Given the description of an element on the screen output the (x, y) to click on. 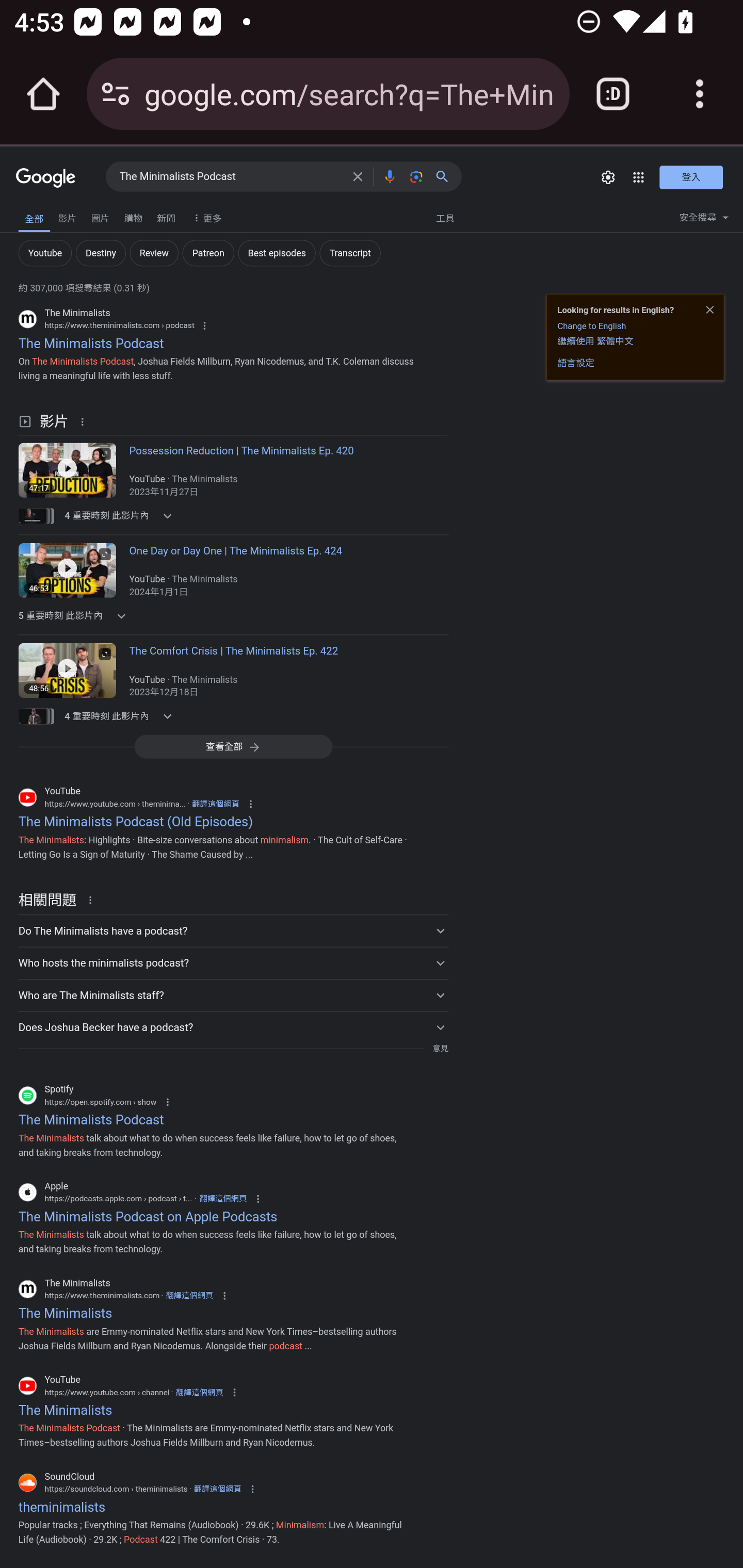
Open the home page (43, 93)
Connection is secure (115, 93)
Switch or close tabs (612, 93)
Customize and control Google Chrome (699, 93)
 清除 (357, 176)
語音搜尋 (389, 176)
以圖搜尋 (415, 176)
搜尋  (446, 176)
設定 (608, 176)
Google 應用程式 (638, 176)
登入 (690, 176)
Google (45, 178)
The Minimalists Podcast (229, 177)
無障礙功能意見 (42, 212)
影片 (67, 216)
圖片 (99, 216)
購物 (133, 216)
新聞 (166, 216)
更多 (205, 216)
安全搜尋 (703, 219)
工具 (444, 216)
新增Youtube Youtube (44, 252)
新增Destiny Destiny (100, 252)
新增Review Review (153, 252)
新增Patreon Patreon (207, 252)
新增Best episodes Best episodes (276, 252)
新增Transcript Transcript (349, 252)
Change to English (591, 325)
繼續使用 繁體中文 繼續使用  繁體中文 (595, 339)
語言設定 (576, 362)
關於此結果 (85, 420)
4 重要時刻  此影片內 (123, 515)
5 重要時刻  此影片內 (123, 616)
4 重要時刻  此影片內 (123, 716)
查看全部 (233, 745)
翻譯這個網頁 (214, 804)
關於此結果 (93, 899)
Do The Minimalists have a podcast? (232, 930)
Who hosts the minimalists podcast? (232, 962)
Who are The Minimalists staff? (232, 994)
Does Joshua Becker have a podcast? (232, 1026)
意見 (439, 1047)
翻譯這個網頁 (223, 1198)
翻譯這個網頁 (188, 1294)
翻譯這個網頁 (199, 1392)
翻譯這個網頁 (217, 1489)
